Given the description of an element on the screen output the (x, y) to click on. 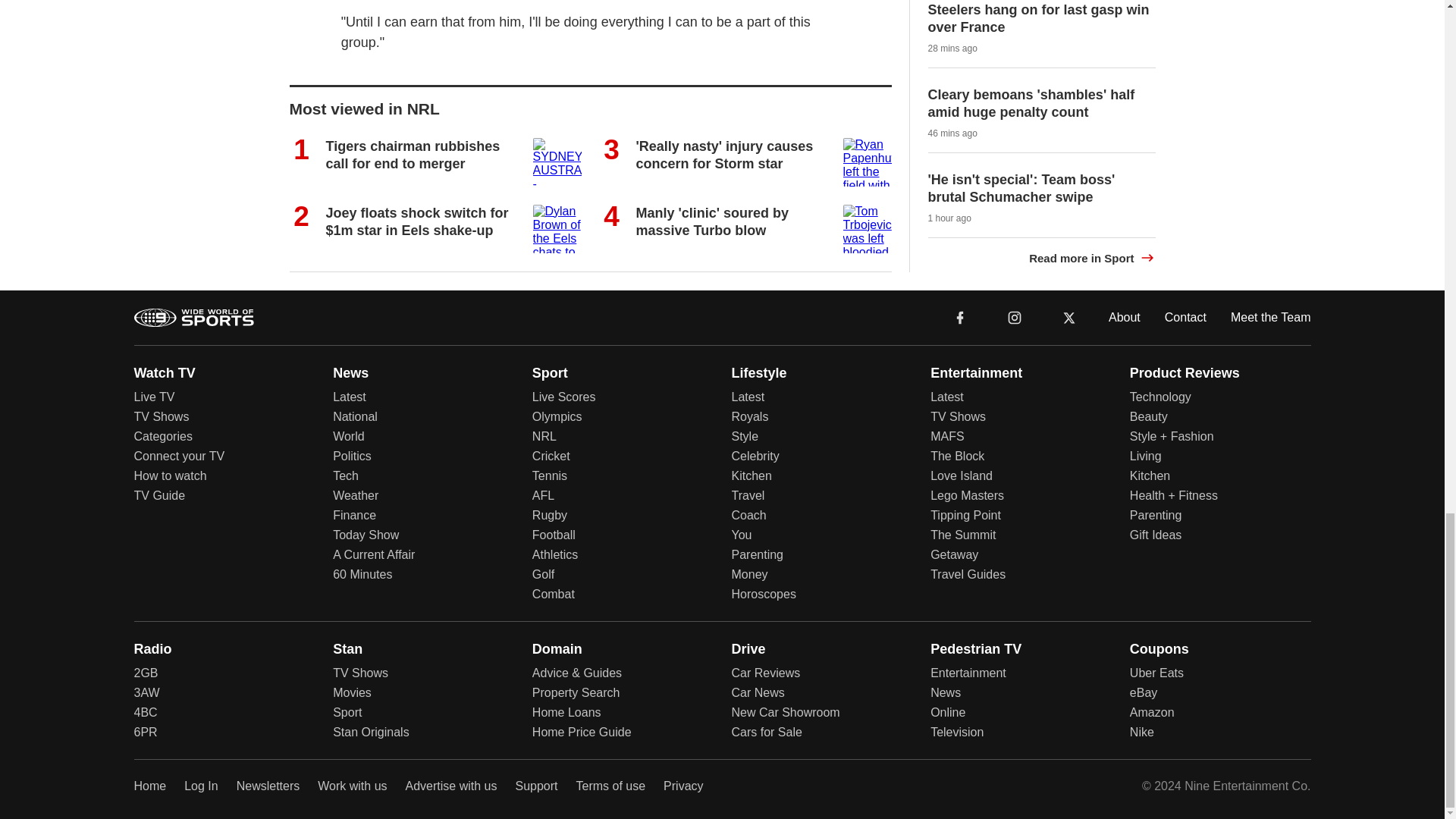
facebook (960, 317)
instagram (1014, 317)
instagram (1013, 316)
facebook (959, 316)
x (1069, 316)
'Really nasty' injury causes concern for Storm star (723, 154)
x (1069, 316)
Manly 'clinic' soured by massive Turbo blow (711, 221)
facebook (959, 316)
Tigers chairman rubbishes call for end to merger (413, 154)
